Given the description of an element on the screen output the (x, y) to click on. 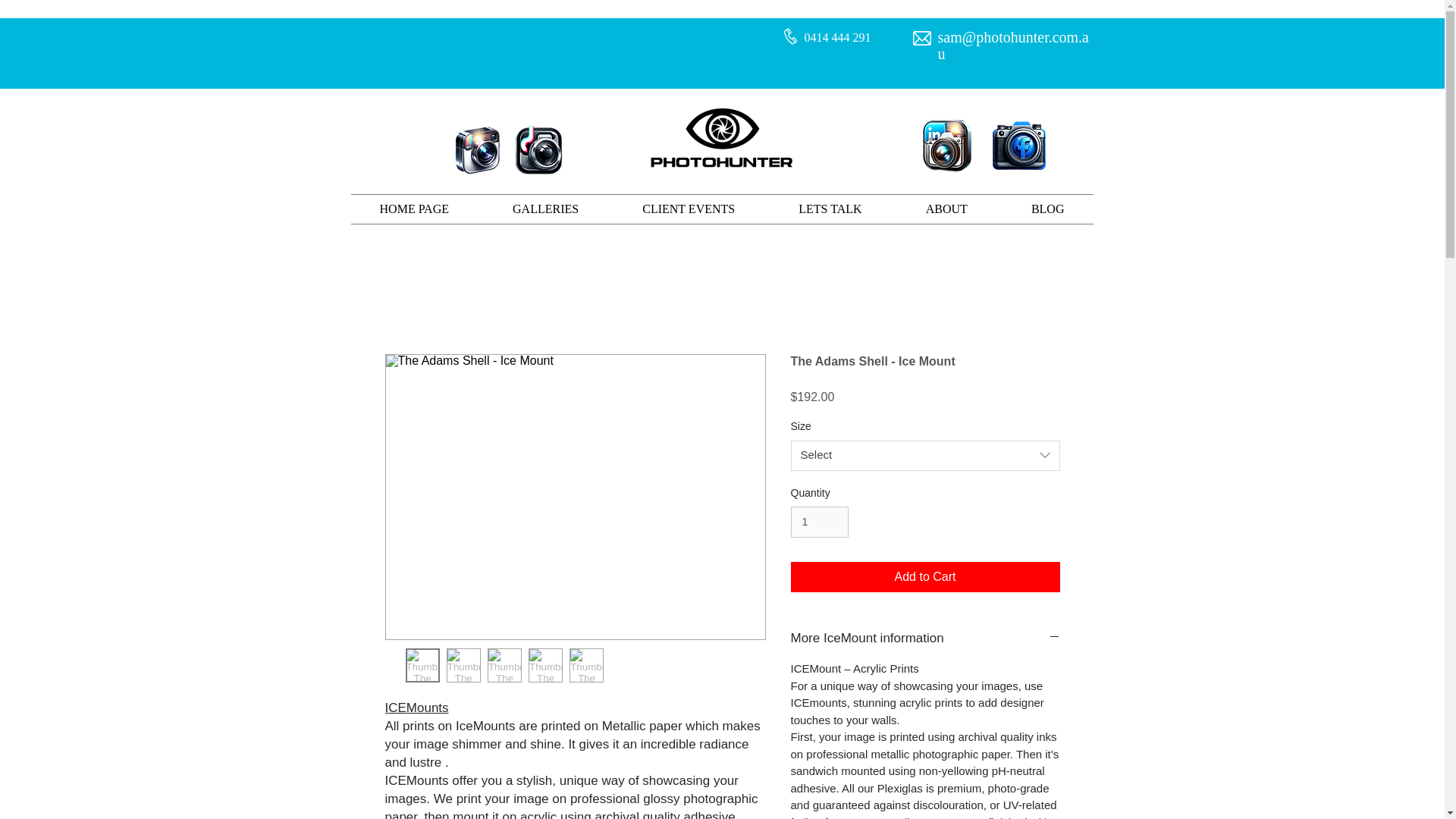
ABOUT (945, 208)
CLIENT EVENTS (687, 208)
1 (818, 521)
Add to Cart (924, 576)
LETS TALK (829, 208)
HOME PAGE (413, 208)
BLOG (1048, 208)
Select (924, 455)
GALLERIES (545, 208)
0414 444 291 (836, 37)
